Given the description of an element on the screen output the (x, y) to click on. 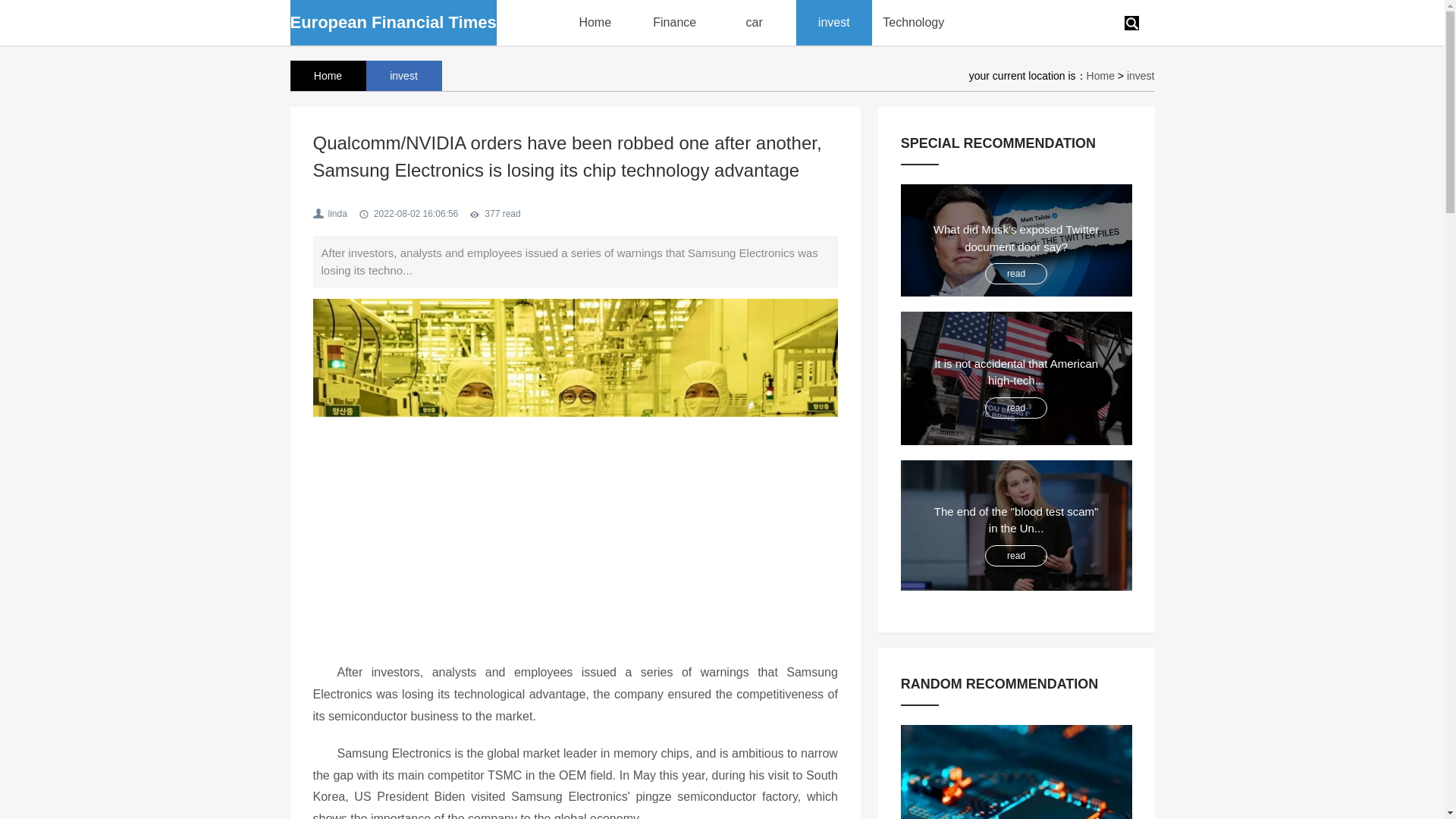
read (1016, 407)
Home (1100, 75)
linda (336, 213)
European Financial Times (392, 22)
read (1016, 555)
invest (403, 75)
Technology (912, 22)
invest (834, 22)
Finance (673, 22)
read (1016, 273)
